Given the description of an element on the screen output the (x, y) to click on. 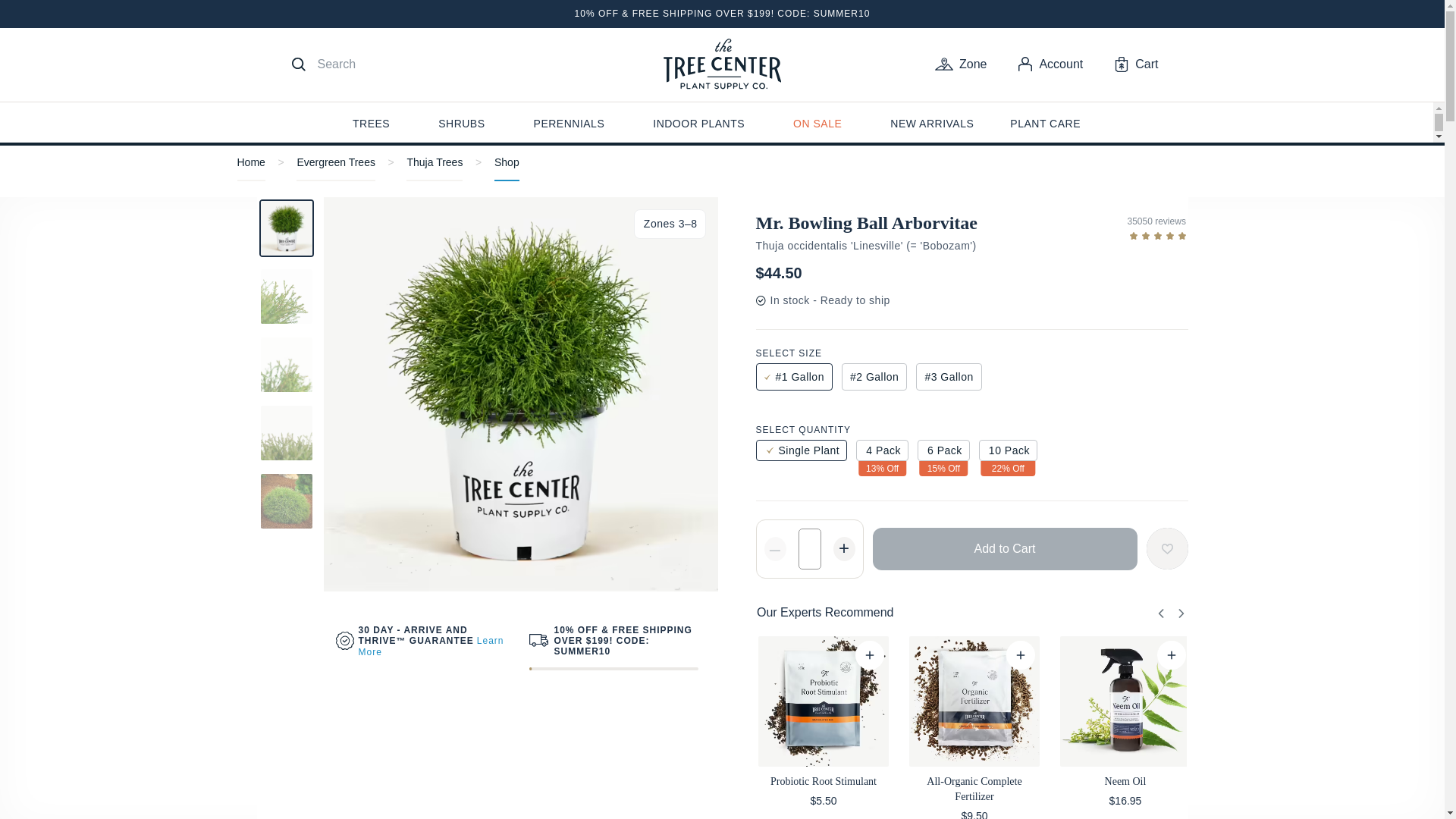
Zone (960, 64)
0 (1032, 654)
0 (880, 654)
0 (1182, 654)
Cart (1135, 64)
Account (1049, 64)
TREES (370, 125)
